Given the description of an element on the screen output the (x, y) to click on. 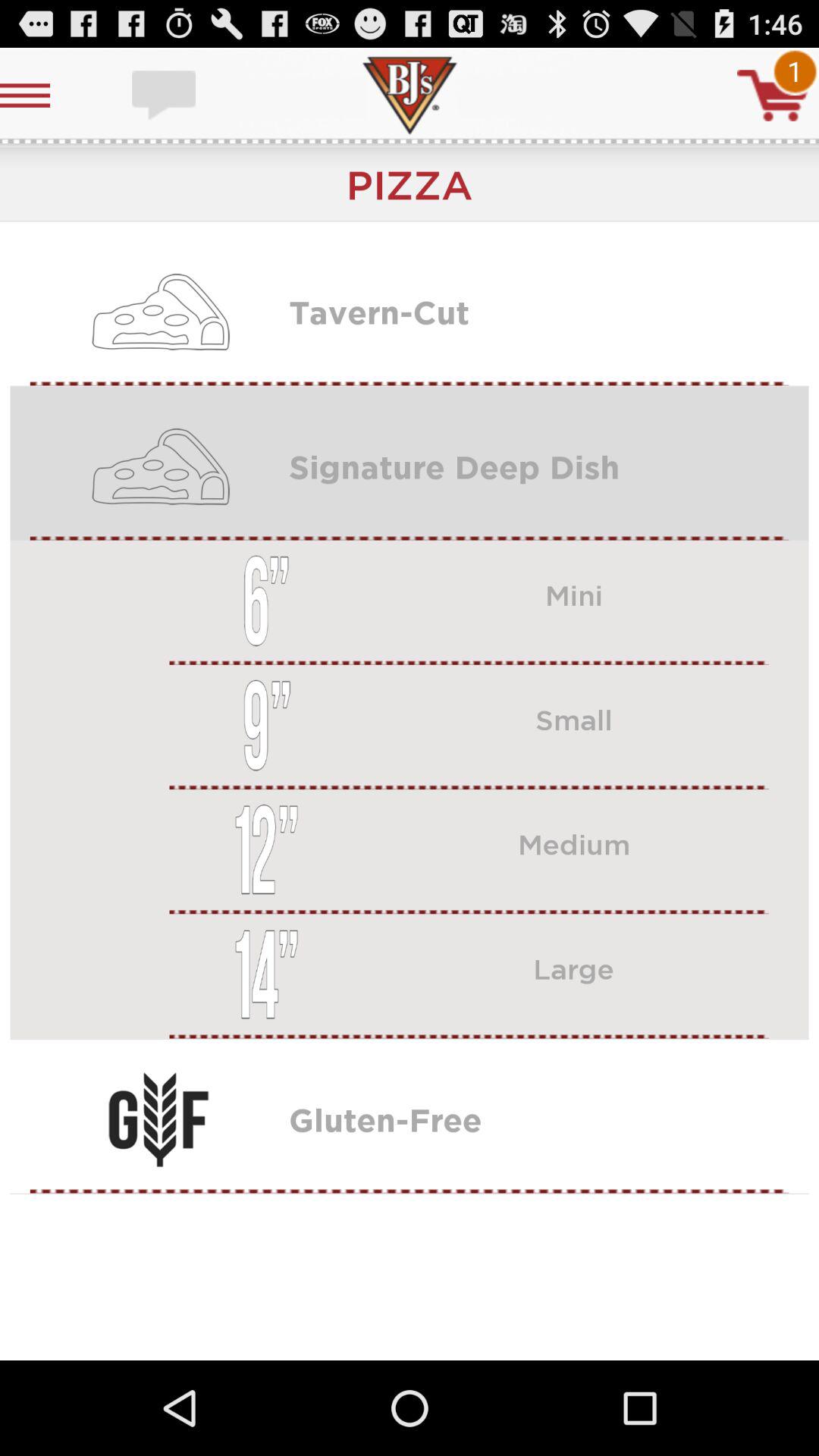
enter messager (165, 95)
